Given the description of an element on the screen output the (x, y) to click on. 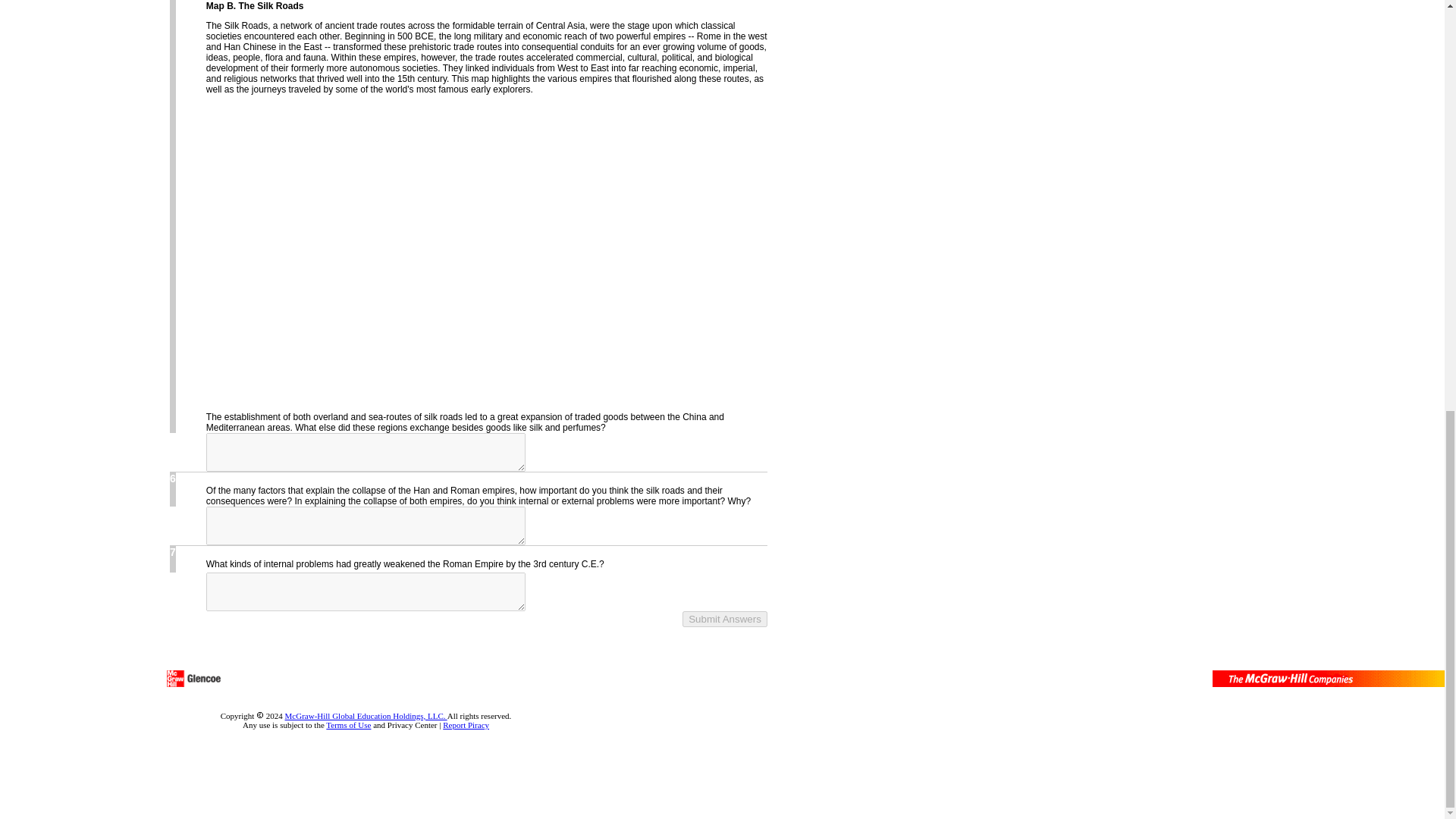
Submit Answers (724, 618)
